Given the description of an element on the screen output the (x, y) to click on. 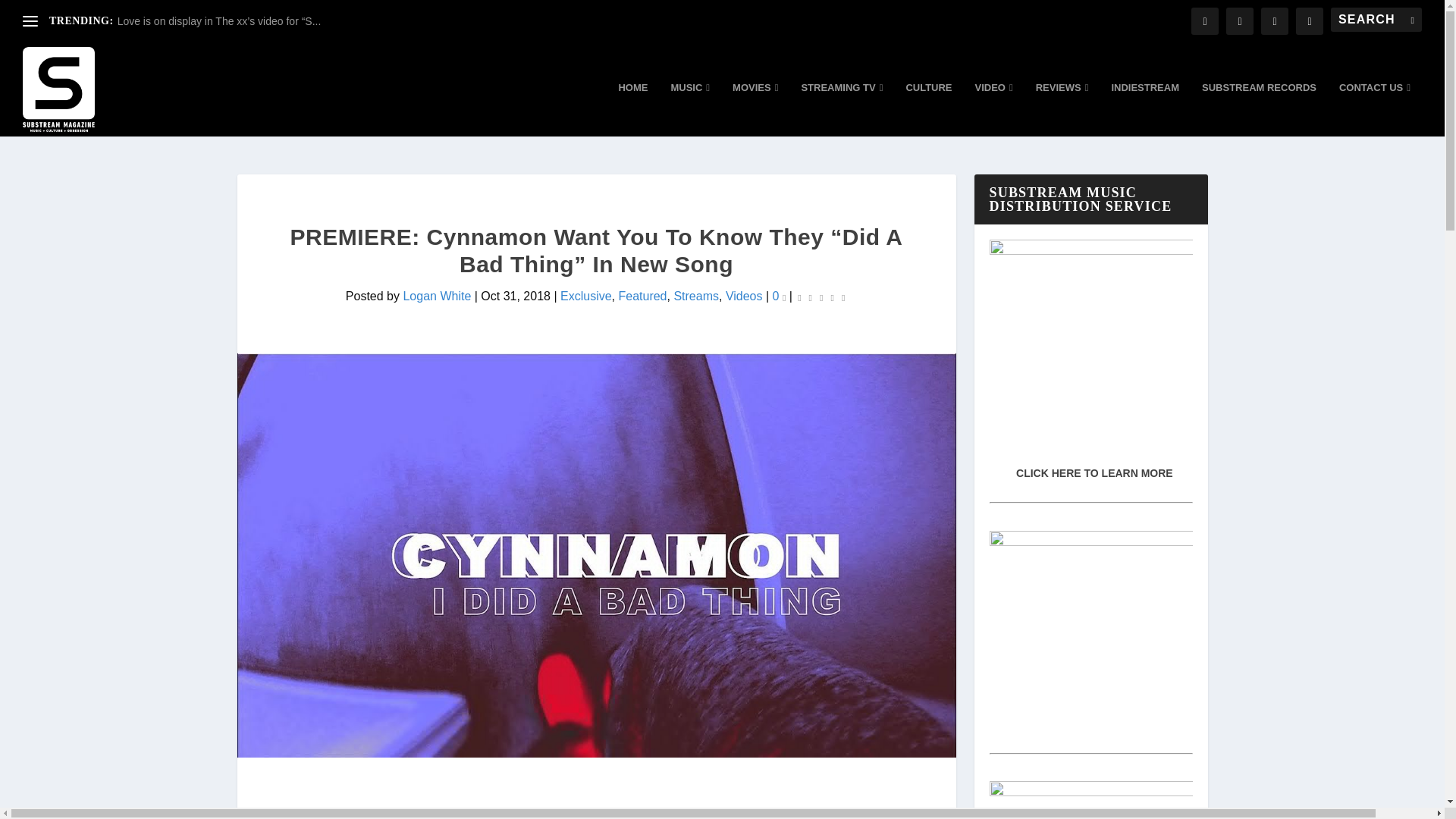
STREAMING TV (841, 108)
Posts by Logan White (436, 295)
Search for: (1376, 19)
REVIEWS (1062, 108)
Rating: 0.00 (820, 296)
